Given the description of an element on the screen output the (x, y) to click on. 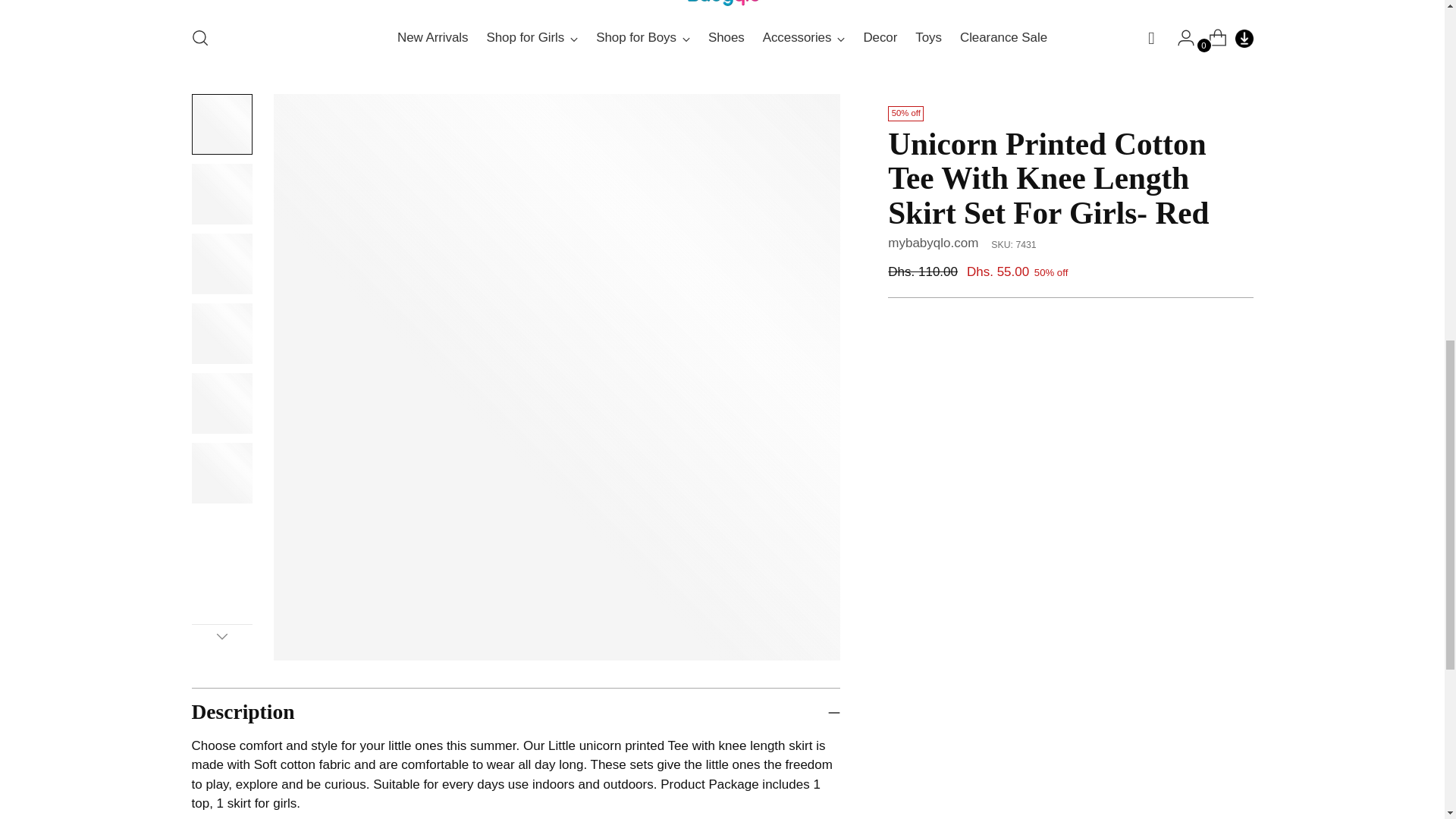
mybabyqlo.com (933, 242)
Down (220, 635)
Shop for Boys (642, 37)
New Arrivals (432, 37)
Shop for Girls (532, 37)
